Given the description of an element on the screen output the (x, y) to click on. 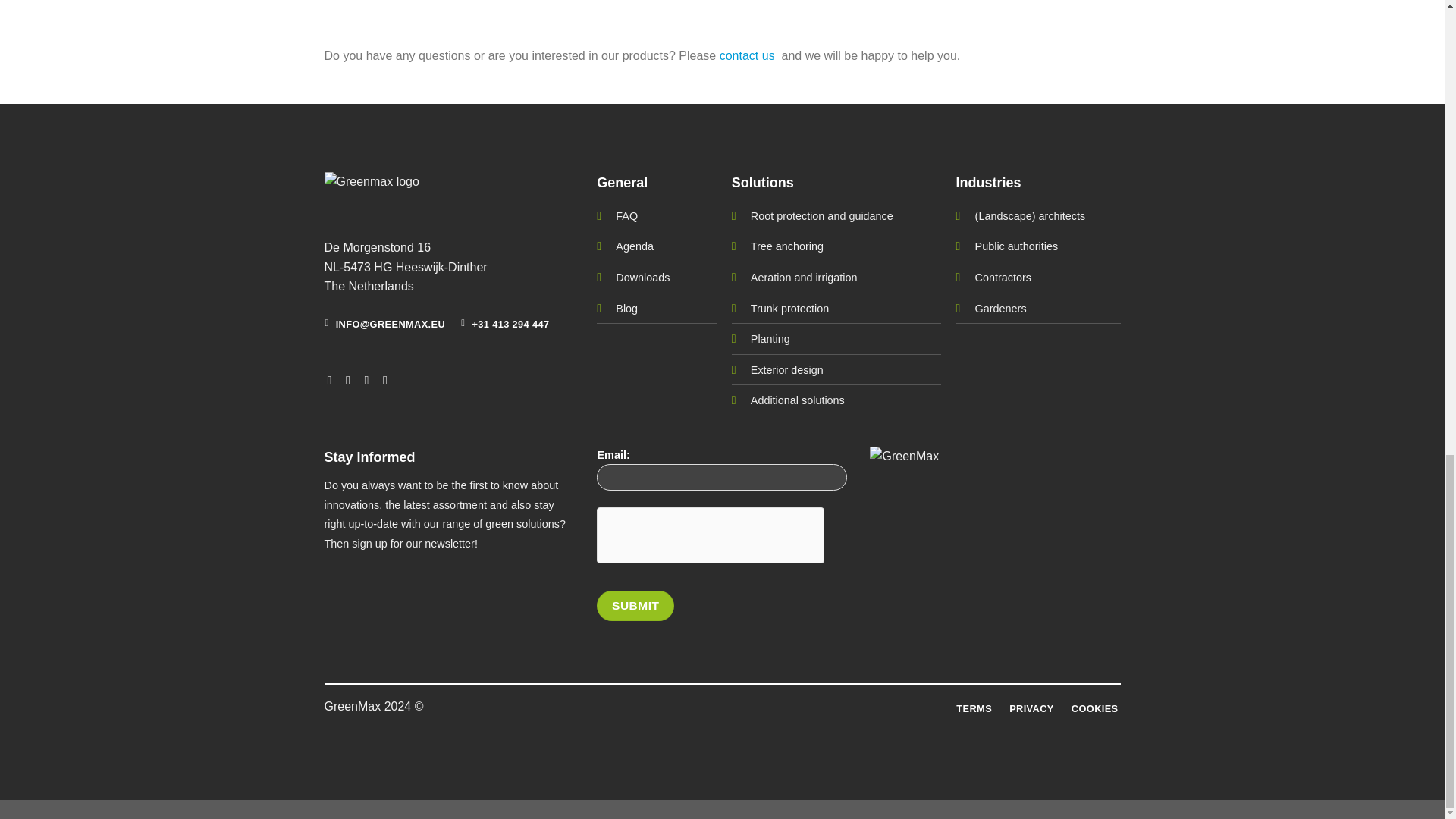
contact us (746, 55)
Follow on LinkedIn (371, 379)
Follow on YouTube (388, 379)
Follow on Facebook (333, 379)
Submit (634, 604)
Follow on Instagram (352, 379)
